Given the description of an element on the screen output the (x, y) to click on. 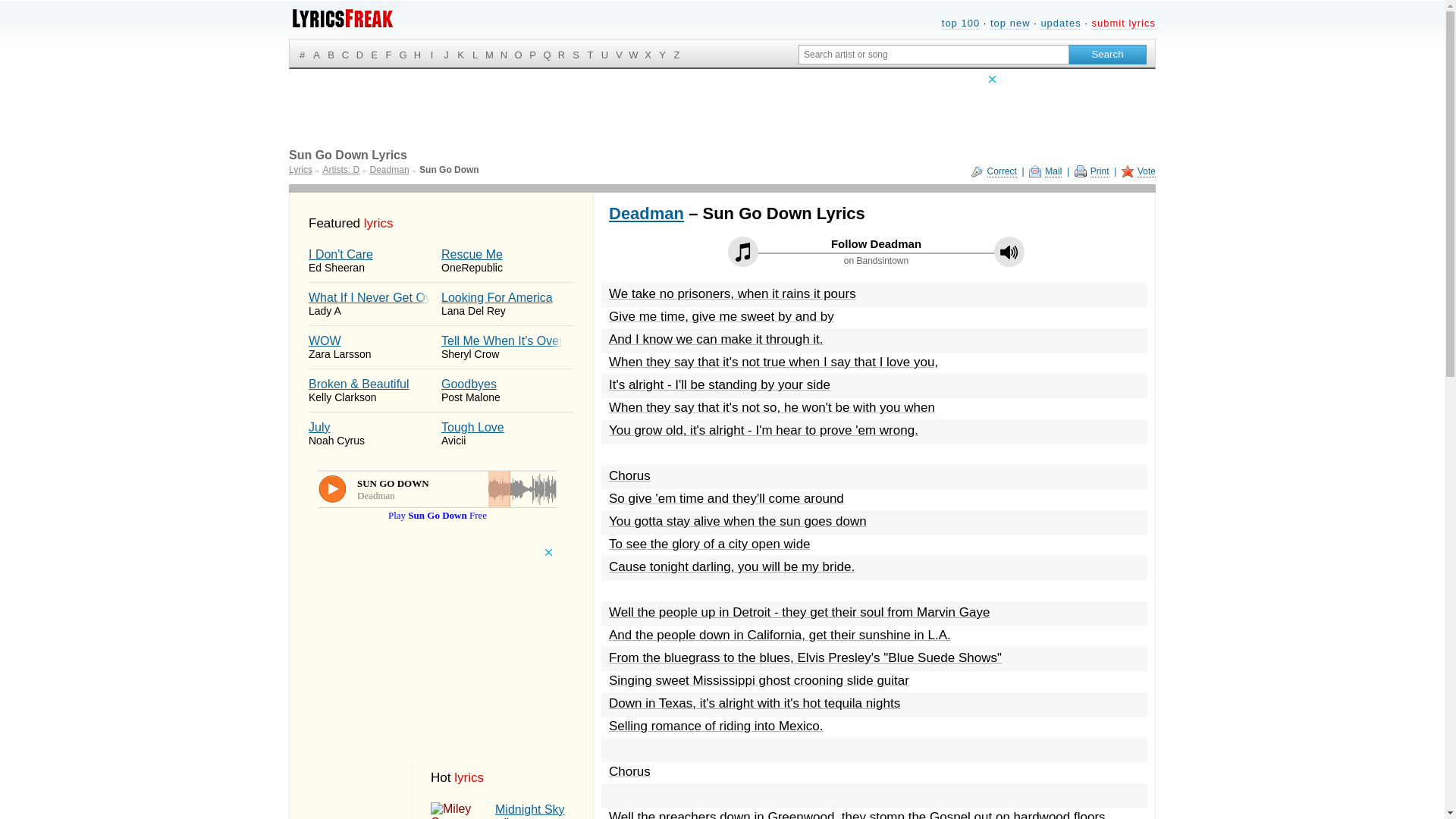
Artists: D (340, 169)
updates (507, 303)
Rescue Me lyrics (1060, 23)
3rd party ad content (507, 260)
Looking For America lyrics (721, 106)
Mail (507, 303)
Search (1045, 171)
Deadman (1107, 53)
Deadman (646, 212)
